Given the description of an element on the screen output the (x, y) to click on. 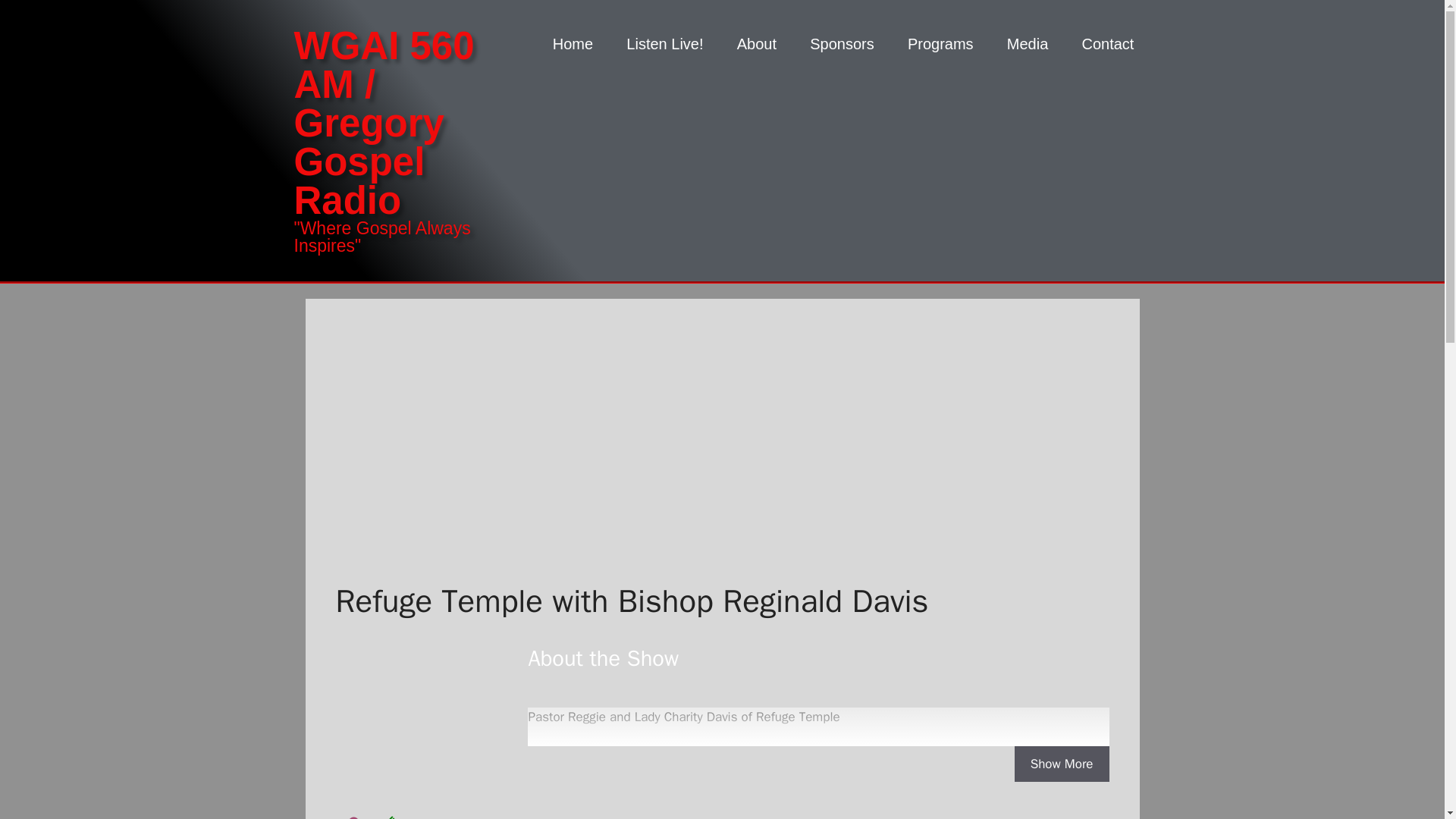
About (756, 43)
Media (1027, 43)
Sponsors (842, 43)
Contact (1107, 43)
Show More (1061, 764)
Home (572, 43)
Refuge Temple with Bishop Reginald Davis (410, 721)
Listen Live! (664, 43)
Programs (940, 43)
